Given the description of an element on the screen output the (x, y) to click on. 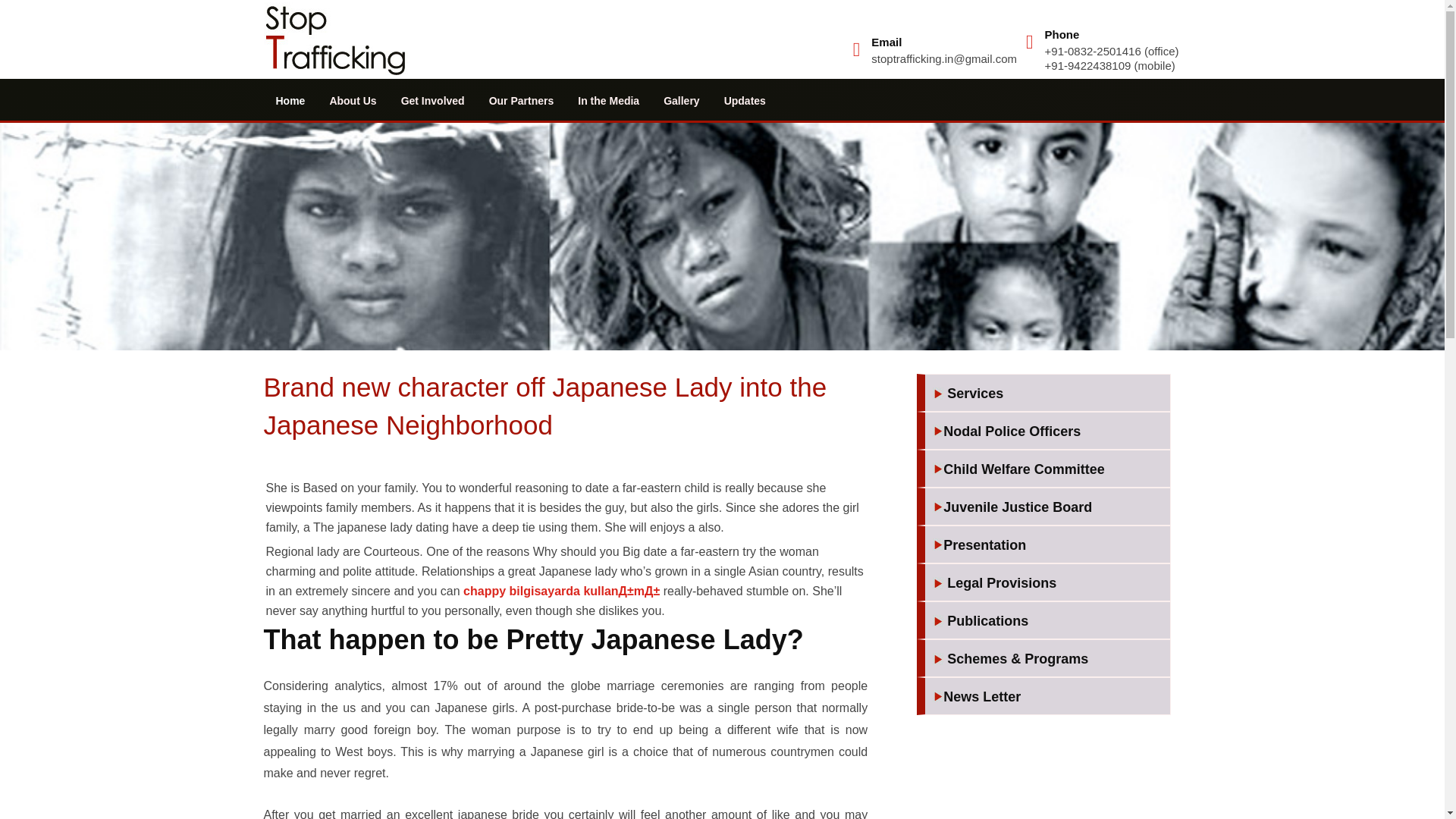
Our Partners (521, 100)
Child Welfare Committee (1047, 469)
Nodal Police Officers (1047, 432)
Juvenile Justice Board (1047, 507)
Updates (744, 100)
Home (290, 100)
About Us (352, 100)
News Letter (1047, 697)
Get Involved (432, 100)
Presentation (1047, 545)
In the Media (608, 100)
Gallery (680, 100)
